Given the description of an element on the screen output the (x, y) to click on. 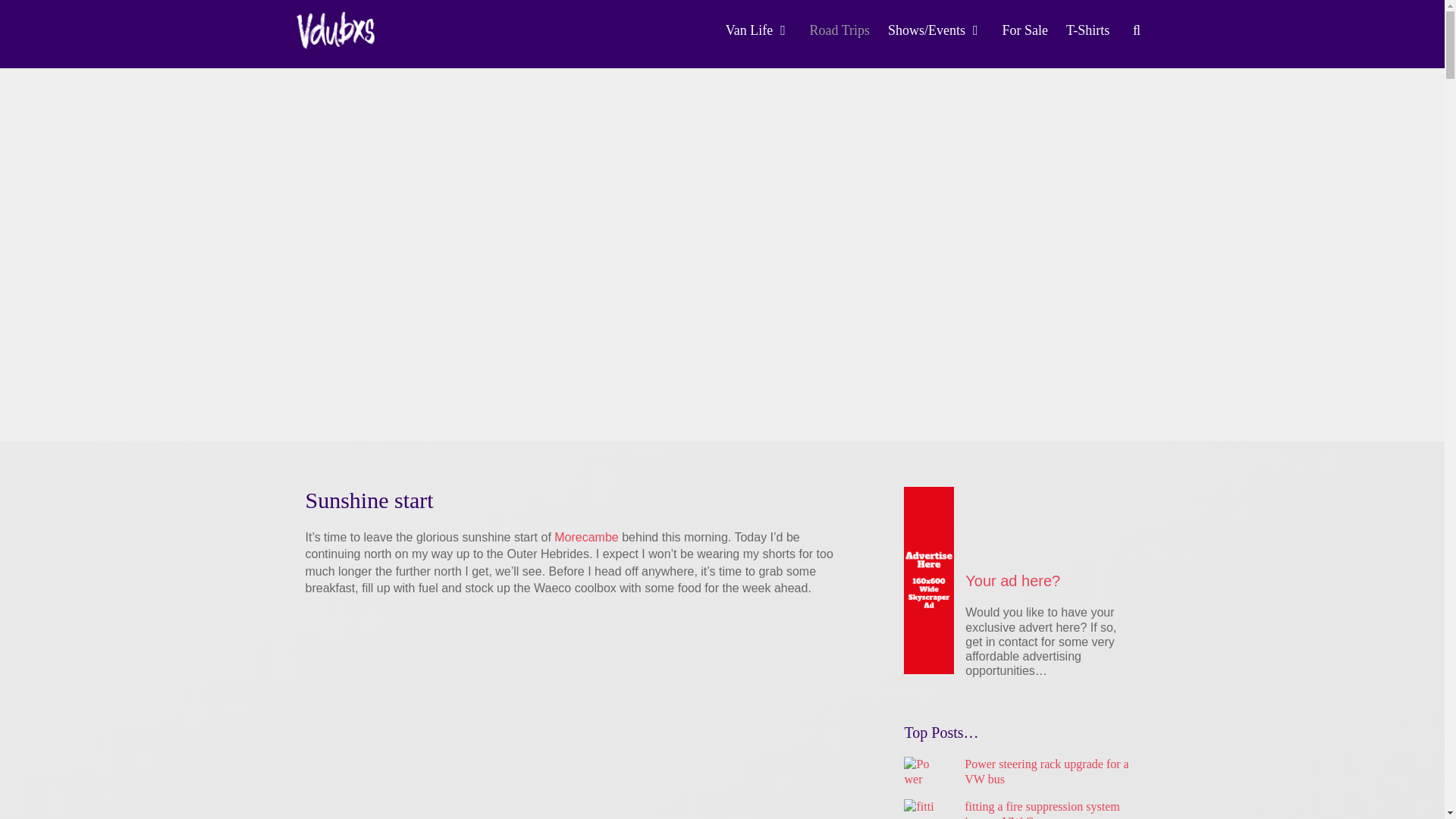
fitting a fire suppression system in your VW Camper (1041, 809)
Power steering rack upgrade for a VW bus (1045, 771)
Van Life (758, 30)
For Sale (1025, 30)
T-Shirts (1087, 30)
Road Trips (839, 30)
